Given the description of an element on the screen output the (x, y) to click on. 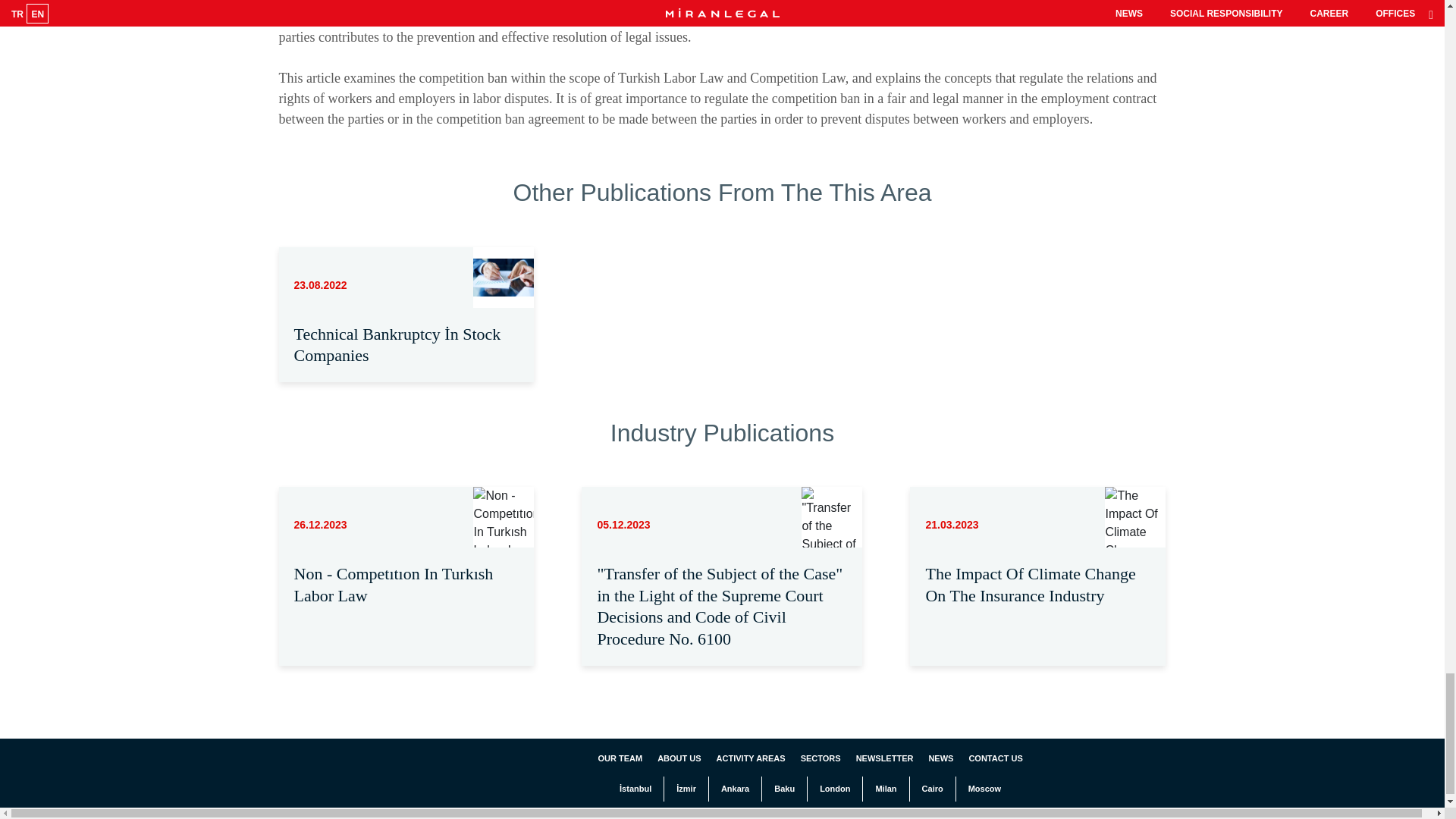
OUR TEAM (619, 758)
NEWS (940, 758)
NEWSLETTER (885, 758)
CONTACT US (995, 758)
SECTORS (820, 758)
ABOUT US (679, 758)
ACTIVITY AREAS (751, 758)
